Given the description of an element on the screen output the (x, y) to click on. 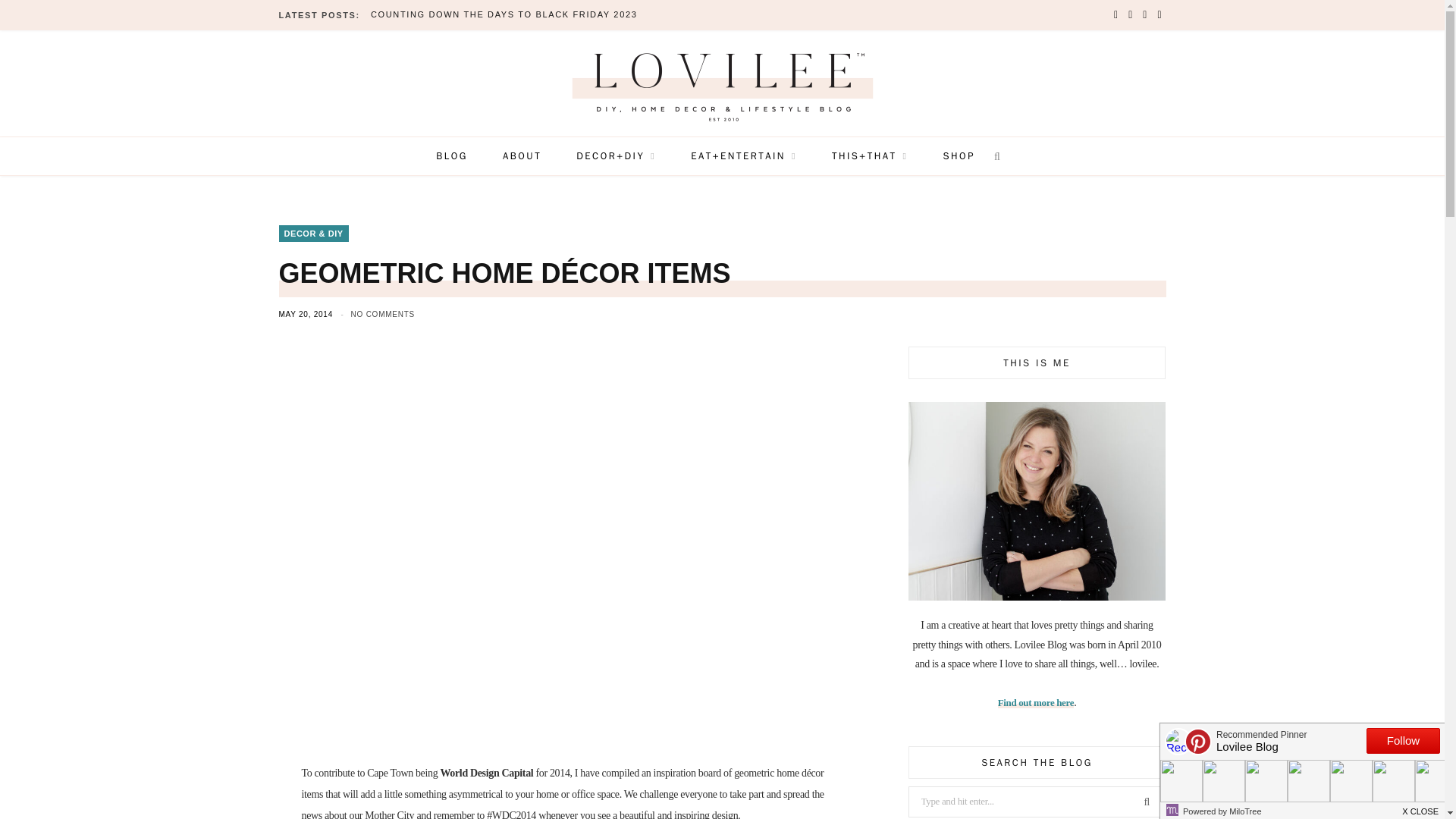
ABOUT (521, 156)
Lovilee Blog (721, 81)
Counting down the days to Black Friday 2023 (508, 14)
BLOG (451, 156)
NO COMMENTS (382, 314)
COUNTING DOWN THE DAYS TO BLACK FRIDAY 2023 (508, 14)
MAY 20, 2014 (307, 314)
SHOP (958, 156)
